Given the description of an element on the screen output the (x, y) to click on. 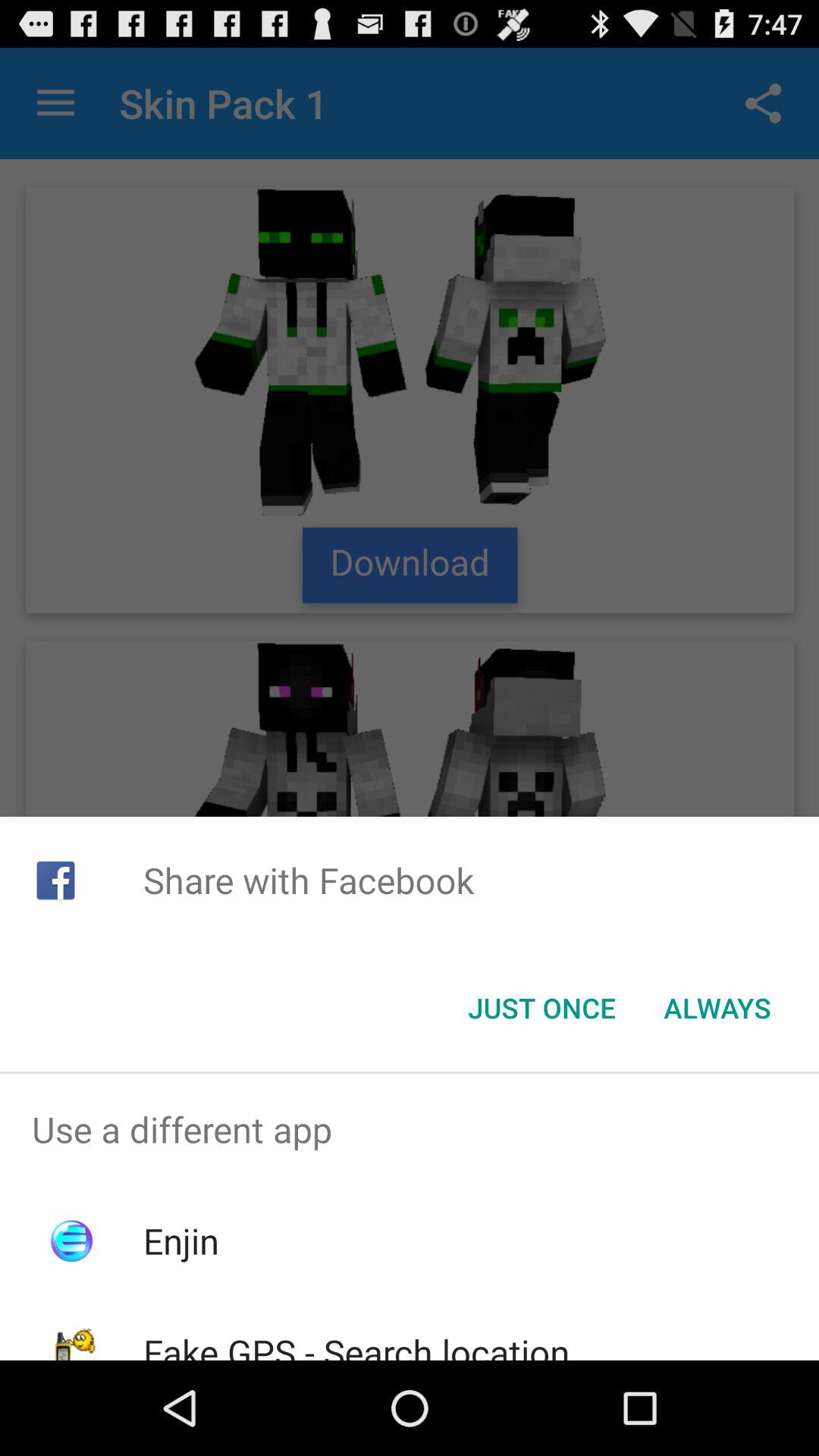
swipe until enjin item (180, 1240)
